Given the description of an element on the screen output the (x, y) to click on. 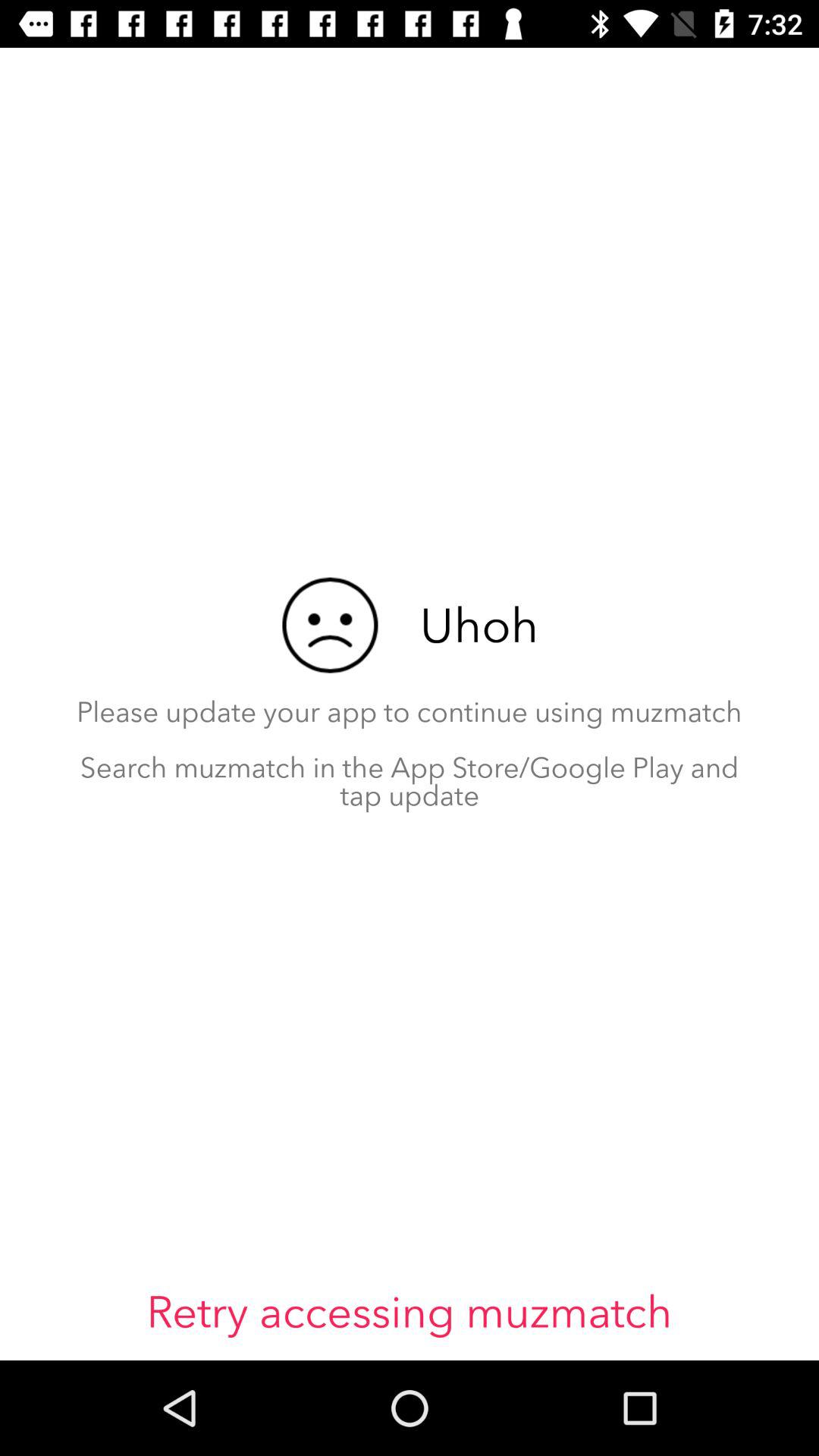
flip until the retry accessing muzmatch item (409, 1312)
